Given the description of an element on the screen output the (x, y) to click on. 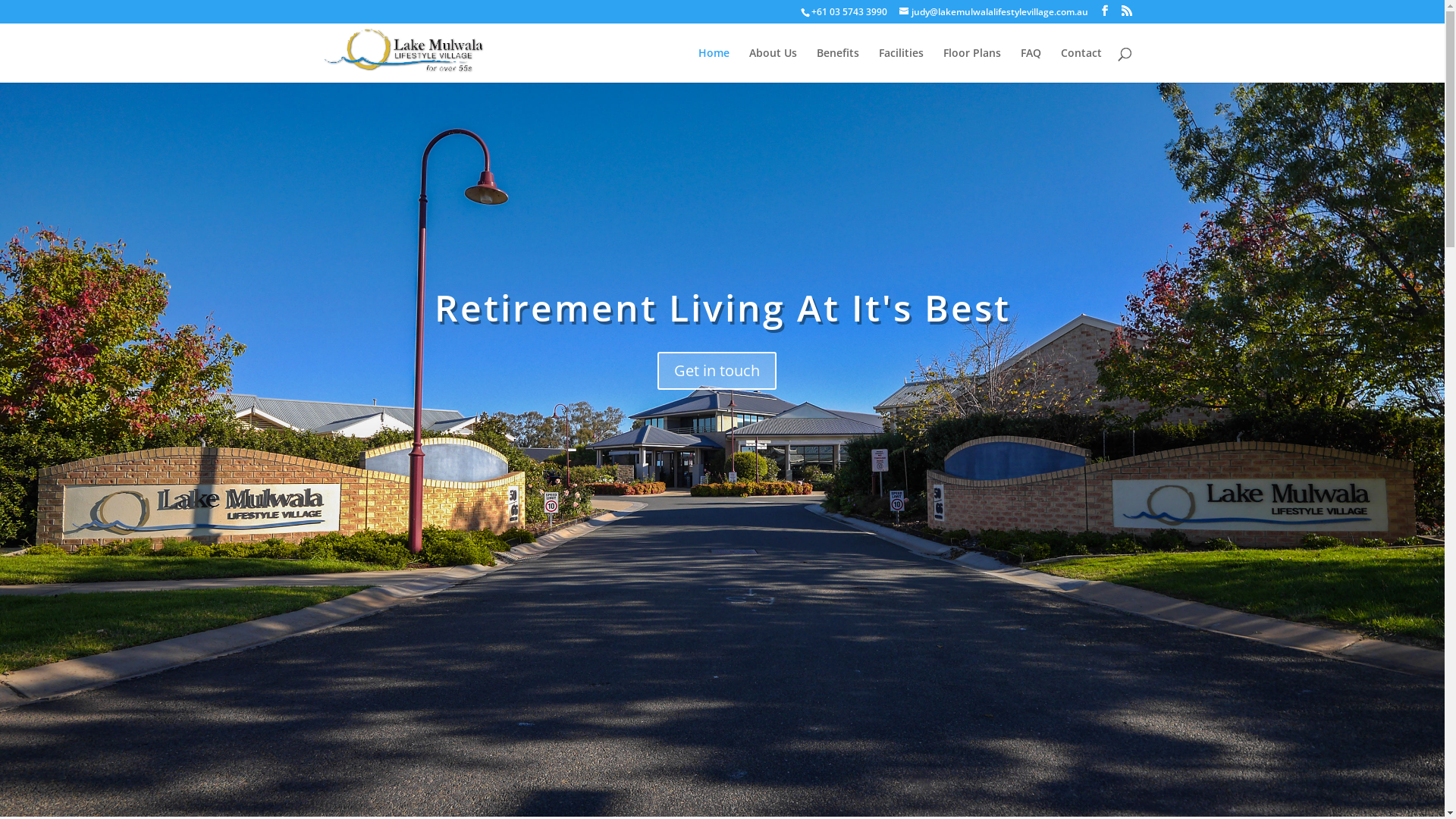
judy@lakemulwalalifestylevillage.com.au Element type: text (993, 11)
Benefits Element type: text (836, 64)
Get in touch Element type: text (715, 370)
About Us Element type: text (773, 64)
Floor Plans Element type: text (972, 64)
Contact Element type: text (1080, 64)
FAQ Element type: text (1030, 64)
Home Element type: text (712, 64)
Facilities Element type: text (900, 64)
